Given the description of an element on the screen output the (x, y) to click on. 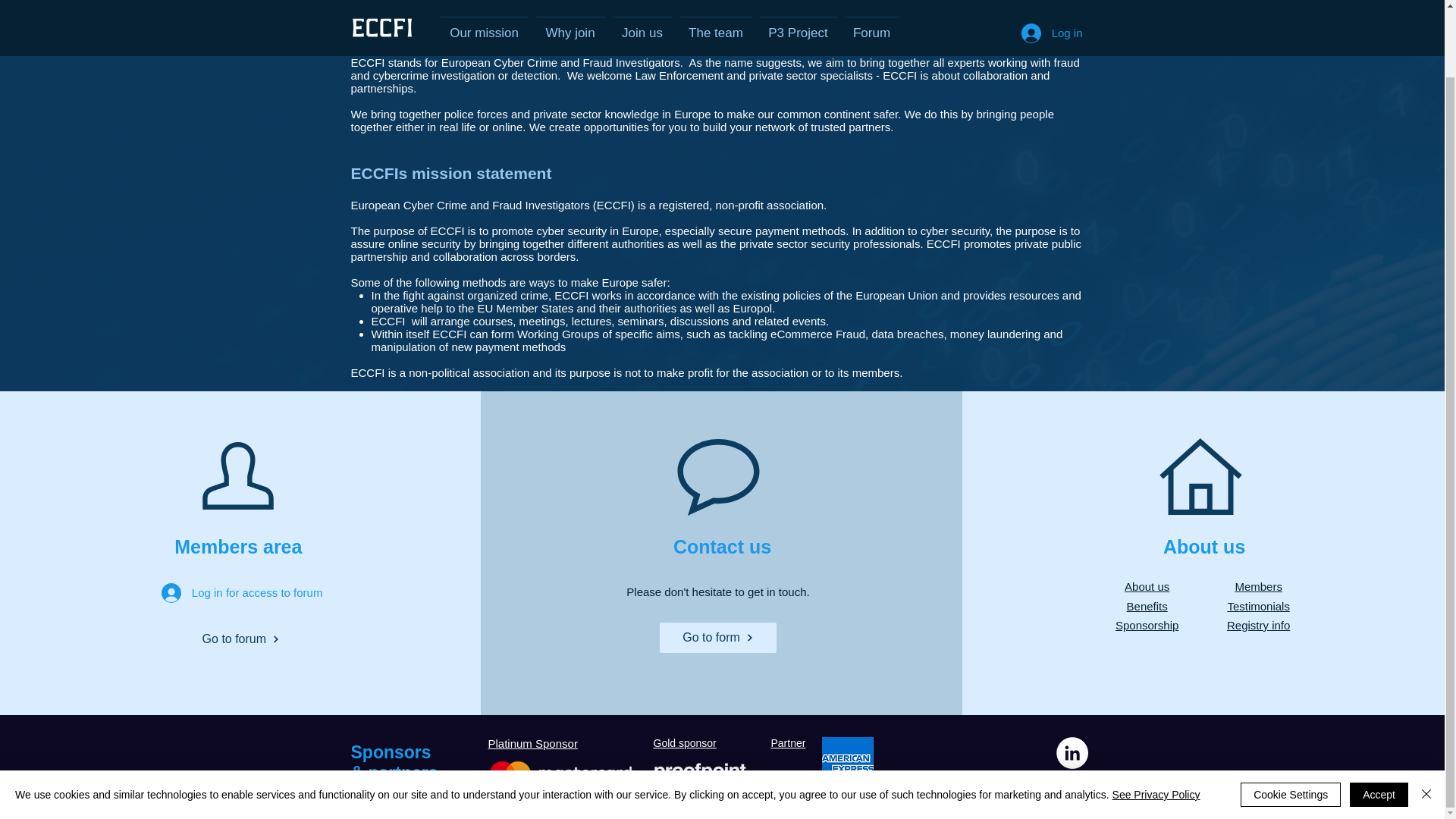
Go to forum (241, 639)
Benefits (1146, 604)
Sponsorship (1146, 625)
Cookie Settings (1290, 720)
Log in for access to forum (241, 592)
Registry info (1258, 625)
See Privacy Policy (1155, 720)
About us (1146, 585)
Members (1258, 585)
Testimonials (1258, 604)
